Given the description of an element on the screen output the (x, y) to click on. 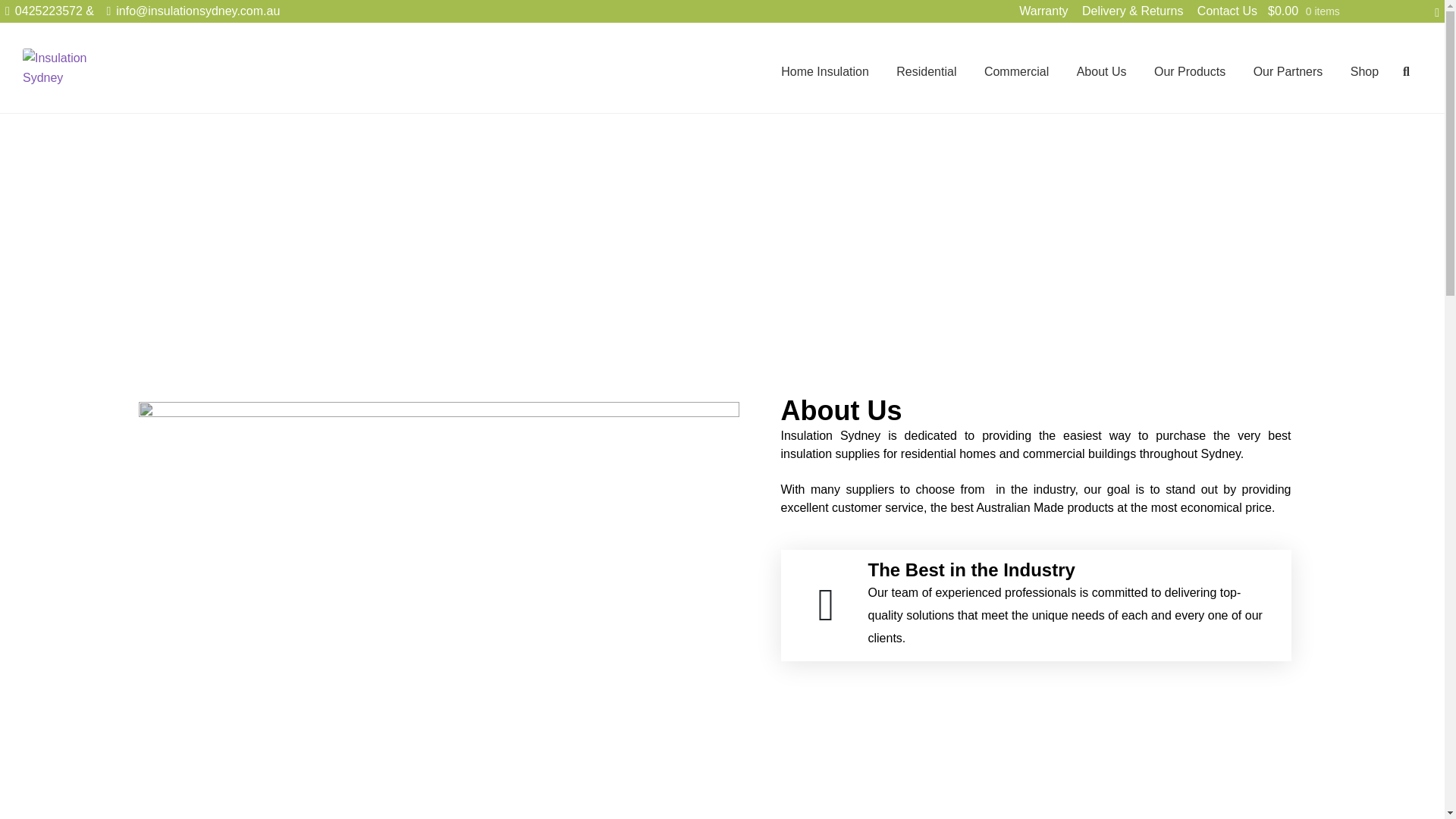
Our Products Element type: text (1189, 71)
Shop Element type: text (1364, 71)
Warranty Element type: text (1043, 11)
Residential Element type: text (926, 71)
Delivery & Returns Element type: text (1132, 11)
Commercial Element type: text (1016, 71)
$0.00 0 items Element type: text (1353, 11)
info@insulationsydney.com.au Element type: text (189, 10)
0425223572 & Element type: text (48, 10)
Home Insulation Element type: text (824, 71)
About Us Element type: text (1101, 71)
Contact Us Element type: text (1227, 11)
Our Partners Element type: text (1288, 71)
